Given the description of an element on the screen output the (x, y) to click on. 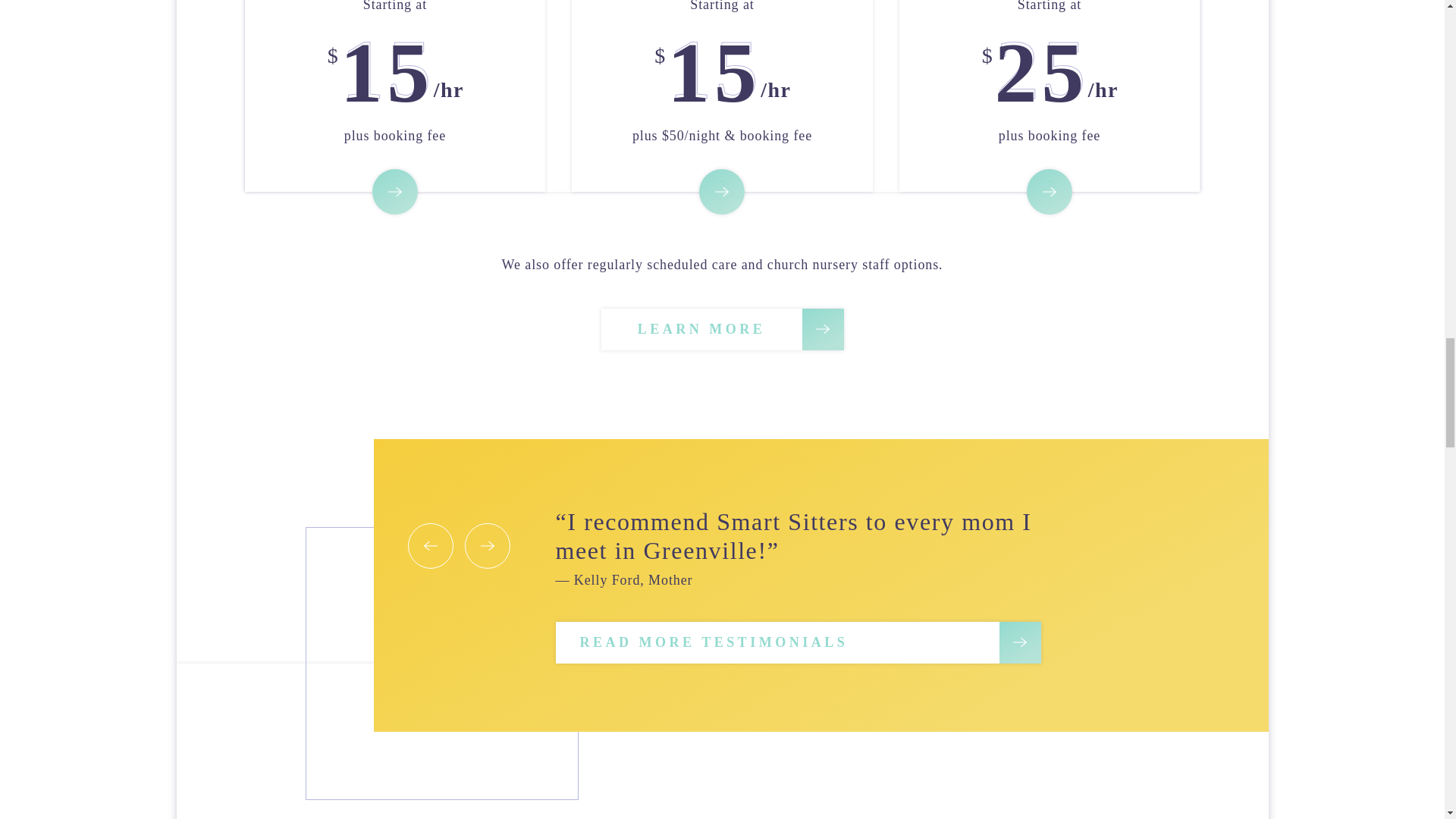
LEARN MORE (721, 329)
READ MORE TESTIMONIALS (797, 642)
